Given the description of an element on the screen output the (x, y) to click on. 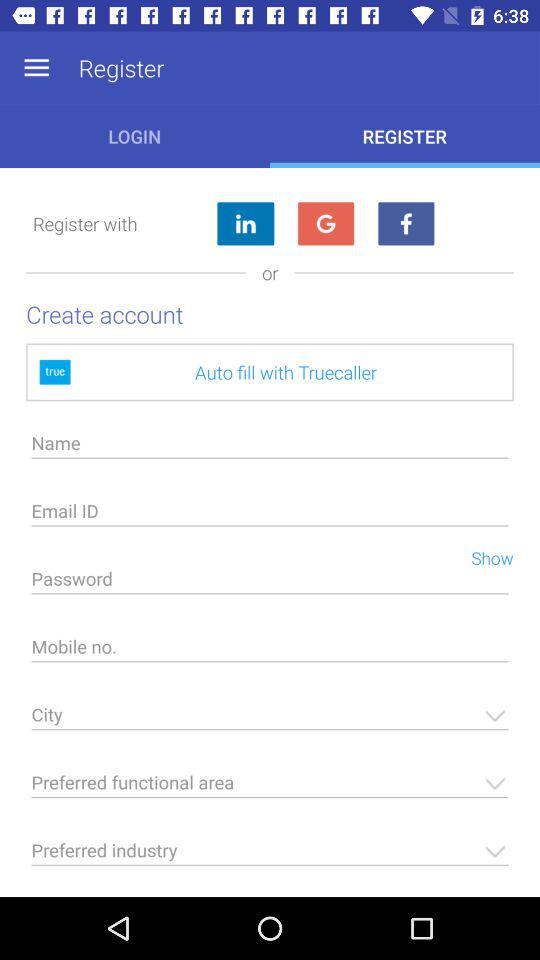
show options for selected field (269, 788)
